Given the description of an element on the screen output the (x, y) to click on. 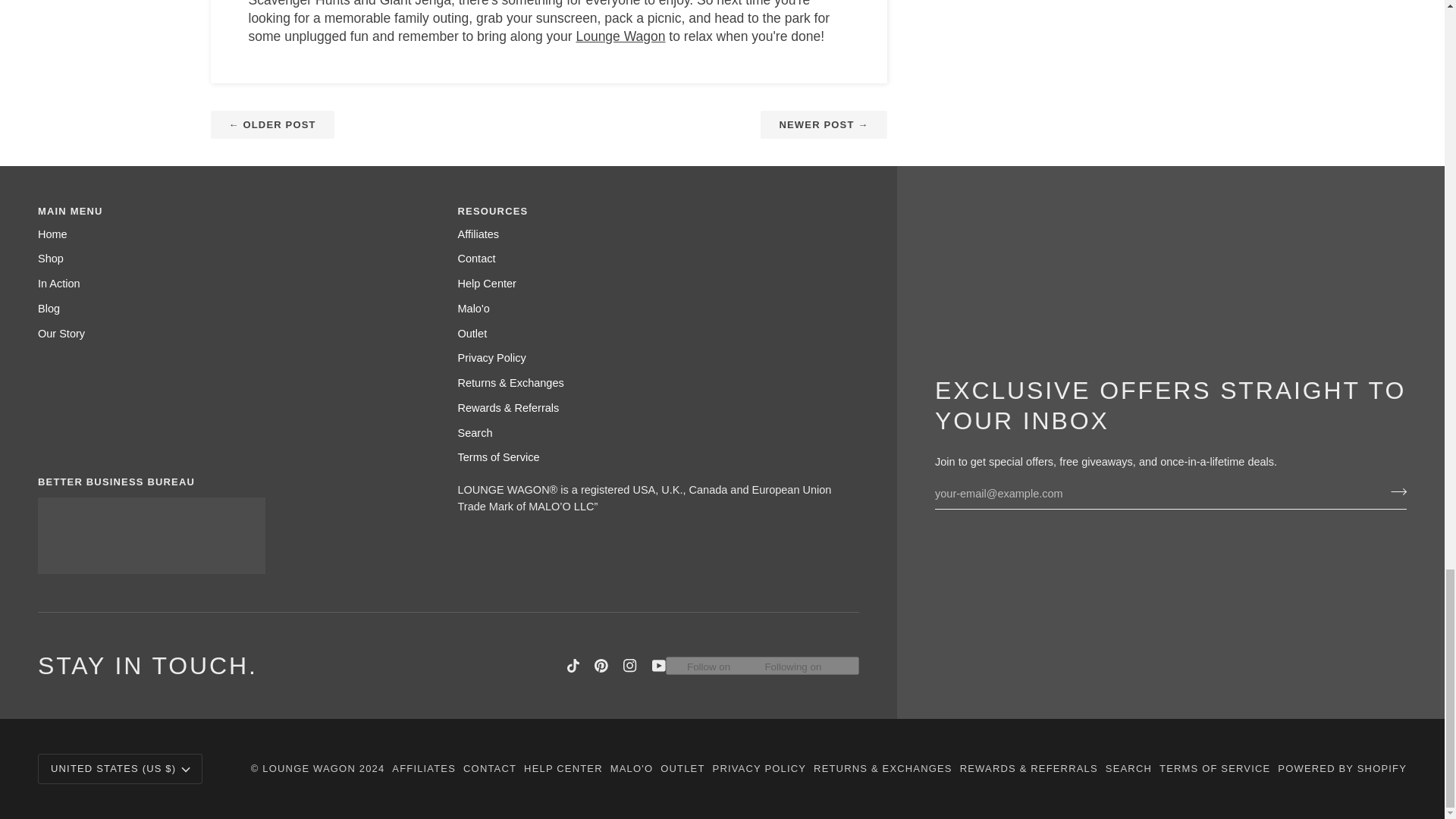
Instagram (630, 665)
YouTube (658, 665)
In Action (58, 283)
Home (51, 234)
Pinterest (601, 665)
Lounge Wagon (620, 36)
Shop (50, 258)
Lounge Wagon (620, 36)
Tiktok (573, 665)
